Given the description of an element on the screen output the (x, y) to click on. 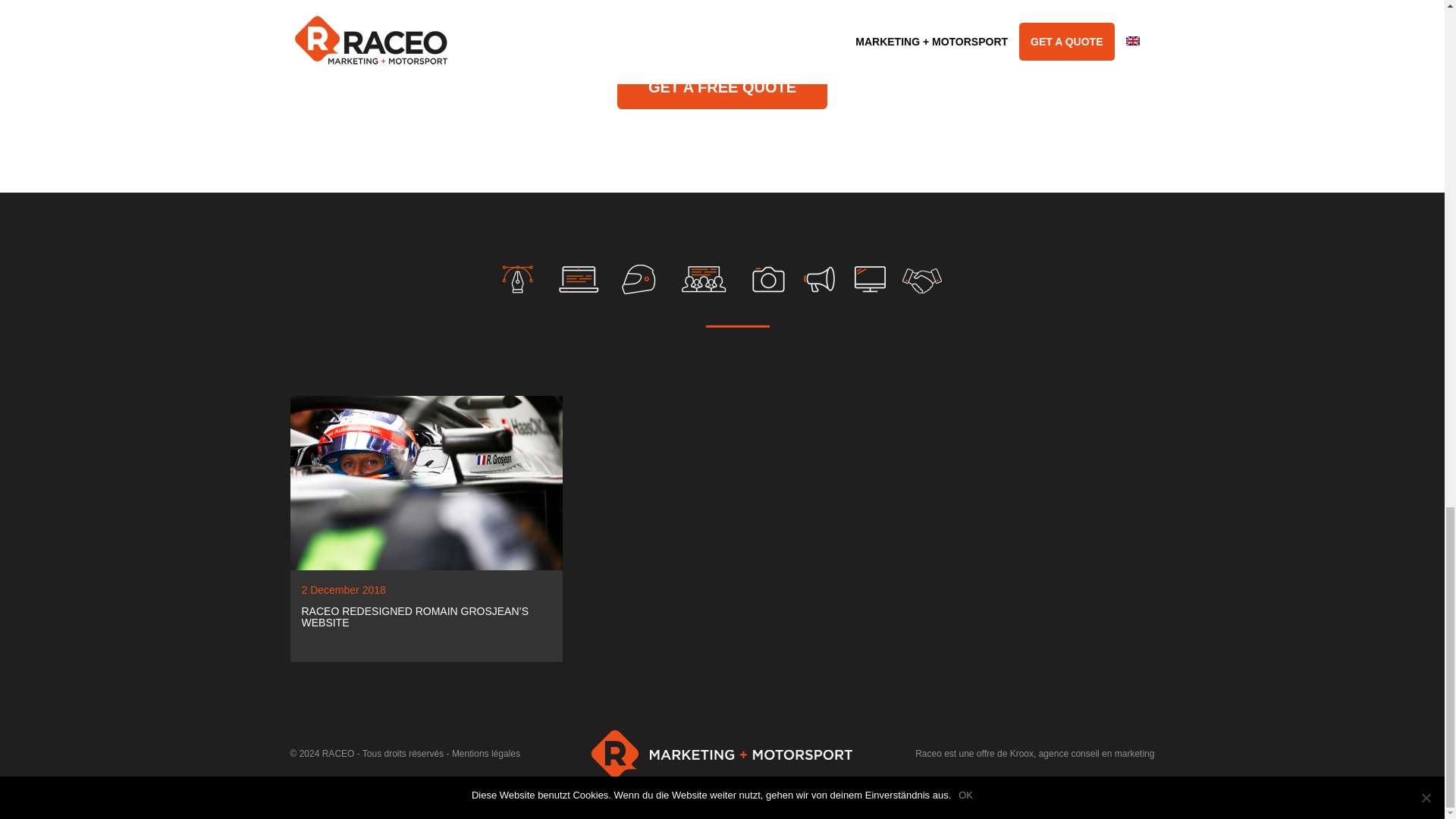
GET A FREE QUOTE (722, 87)
Kroox, agence conseil en marketing (1082, 753)
